Given the description of an element on the screen output the (x, y) to click on. 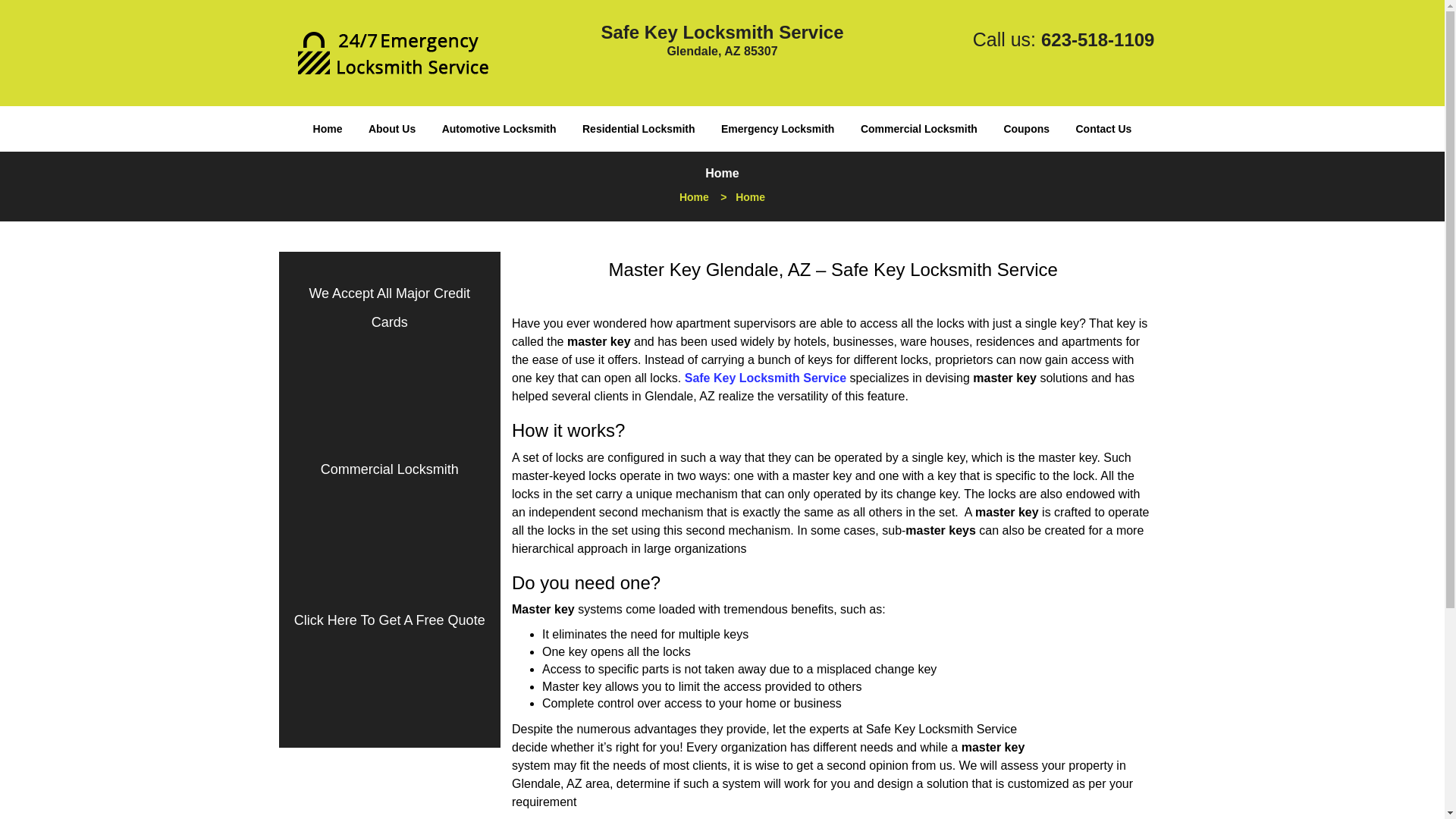
Automotive Locksmith (498, 128)
Home (694, 196)
About Us (391, 128)
Click Here To Get A Free Quote (389, 619)
Contact Us (1103, 128)
623-518-1109 (1097, 39)
Residential Locksmith (638, 128)
Emergency Locksmith (777, 128)
Commercial Locksmith (918, 128)
Home (327, 128)
Safe Key Locksmith Service (764, 377)
Commercial Locksmith (389, 469)
Coupons (1026, 128)
